Given the description of an element on the screen output the (x, y) to click on. 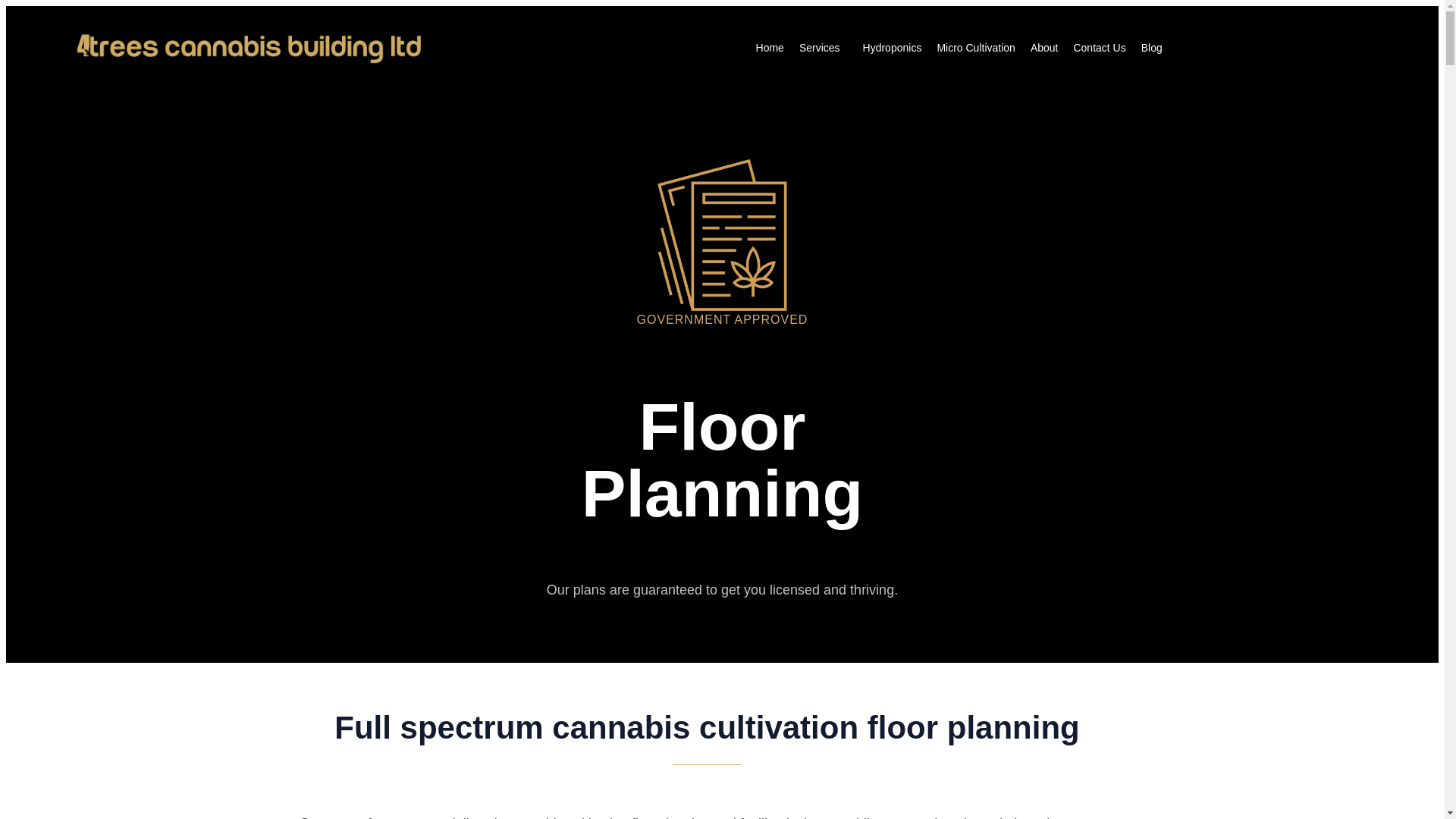
Hydroponics Element type: text (892, 47)
Services Element type: text (823, 47)
Contact Us Element type: text (1098, 47)
Micro Cultivation Element type: text (975, 47)
About Element type: text (1044, 47)
Blog Element type: text (1151, 47)
Home Element type: text (769, 47)
